Given the description of an element on the screen output the (x, y) to click on. 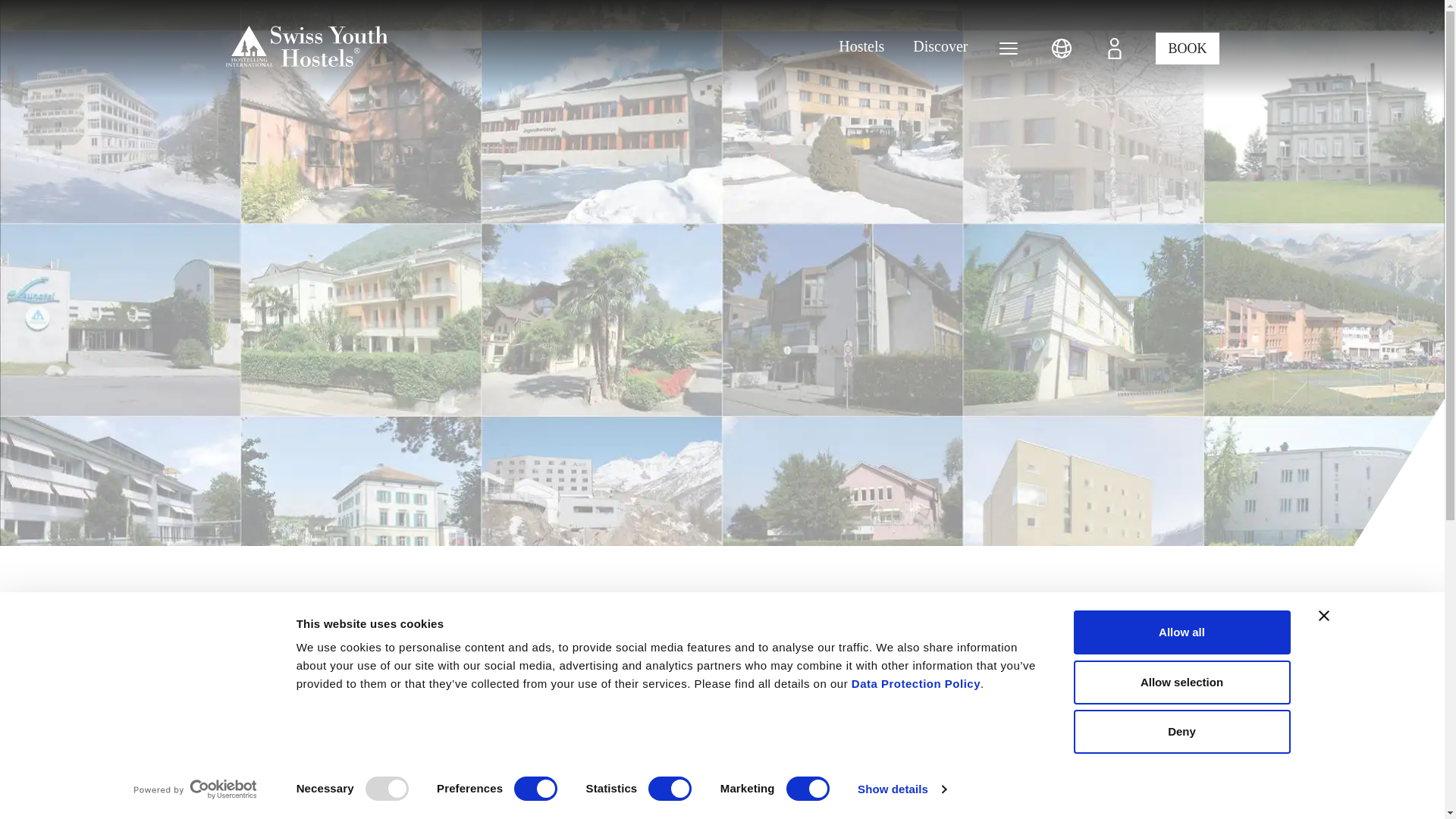
Show details (900, 789)
Allow all (1182, 632)
Deny (1182, 731)
Data Protection Policy (915, 683)
Allow selection (1182, 681)
